Given the description of an element on the screen output the (x, y) to click on. 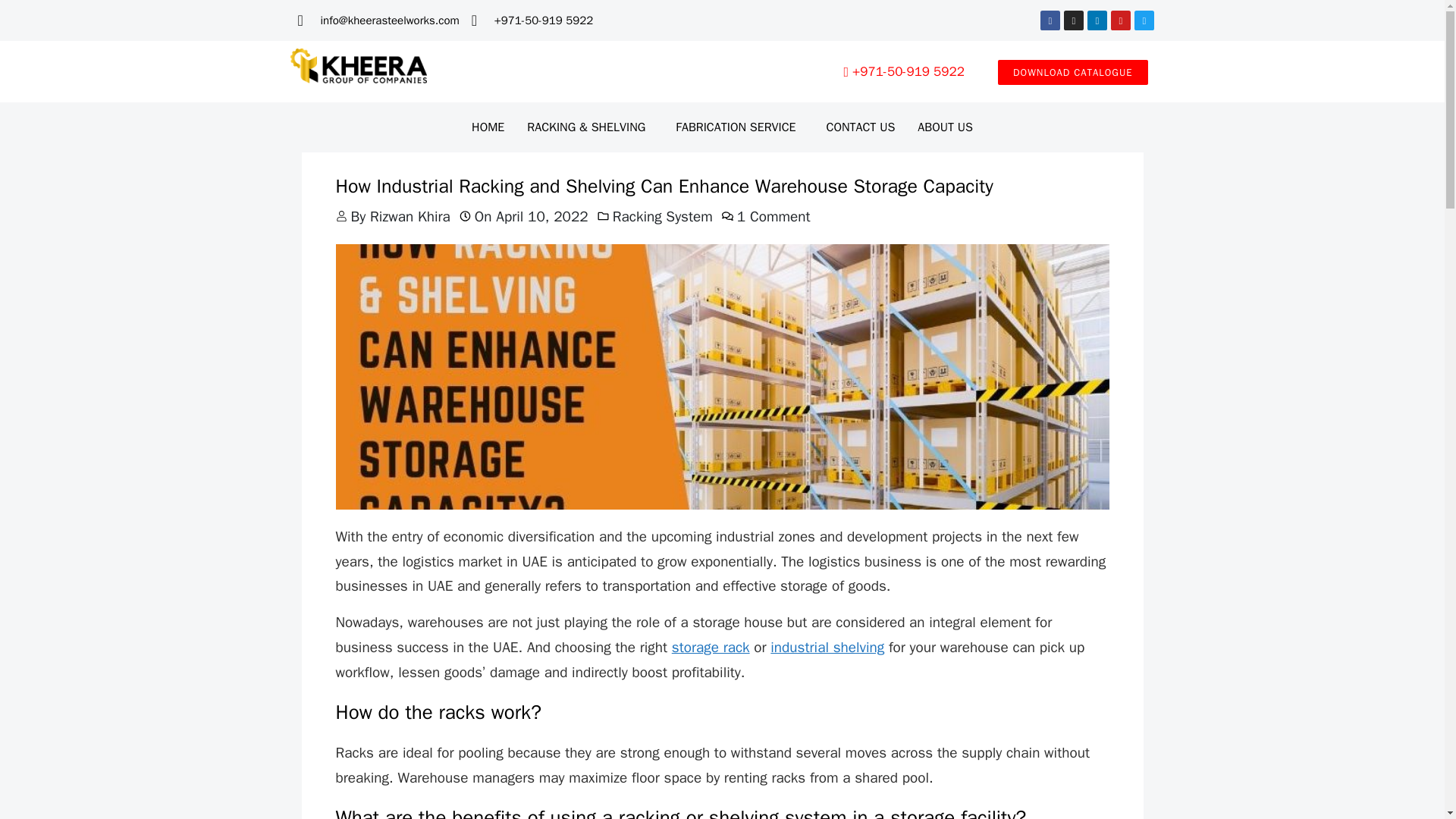
DOWNLOAD CATALOGUE (1072, 72)
ABOUT US (944, 126)
HOME (487, 126)
CONTACT US (859, 126)
FABRICATION SERVICE (738, 126)
